Given the description of an element on the screen output the (x, y) to click on. 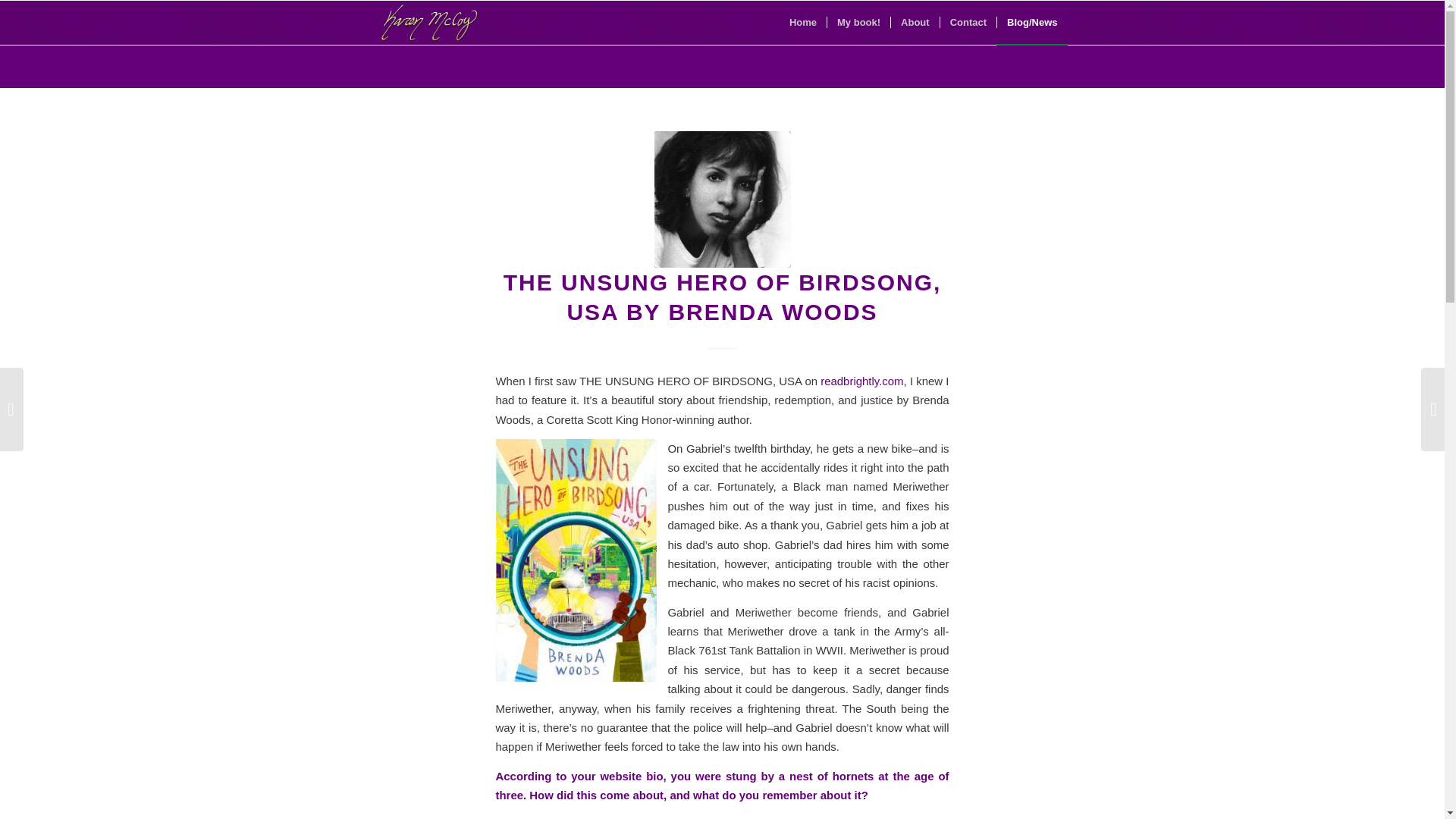
About (914, 22)
My book! (858, 22)
readbrightly.com (861, 380)
THE UNSUNG HERO OF BIRDSONG, USA by Brenda Woods (721, 199)
Home (802, 22)
Contact (967, 22)
THE UNSUNG HERO OF BIRDSONG, USA BY BRENDA WOODS (722, 297)
